Given the description of an element on the screen output the (x, y) to click on. 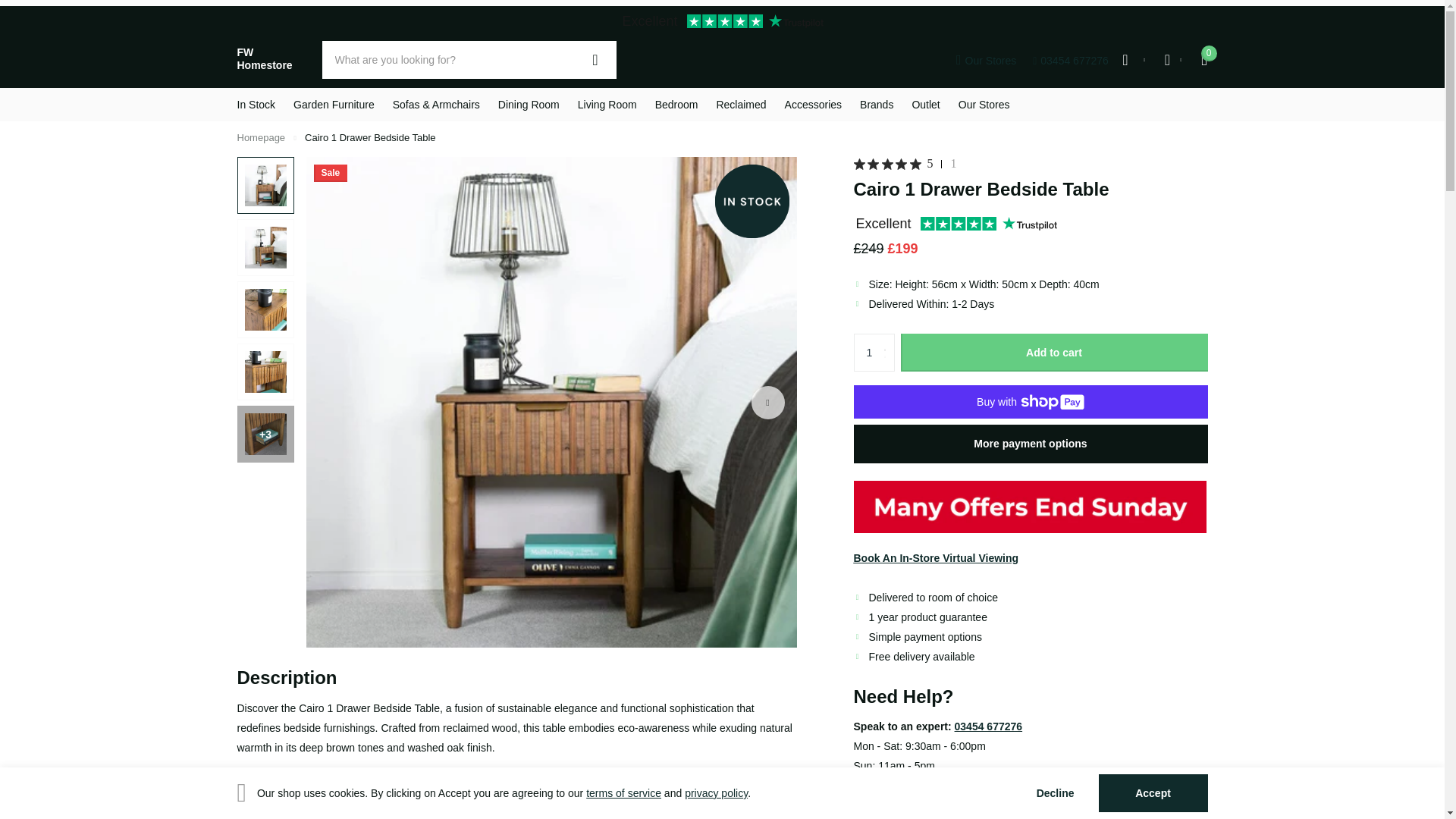
Customer reviews powered by Trustpilot (721, 22)
Our Stores (986, 60)
Customer reviews powered by Trustpilot (954, 225)
Home (260, 137)
Zoeken (595, 59)
Garden Furniture (904, 164)
03454 677276 (334, 104)
Terms of Service (1070, 60)
1 (623, 793)
Privacy Policy (874, 352)
In Stock (716, 793)
